Given the description of an element on the screen output the (x, y) to click on. 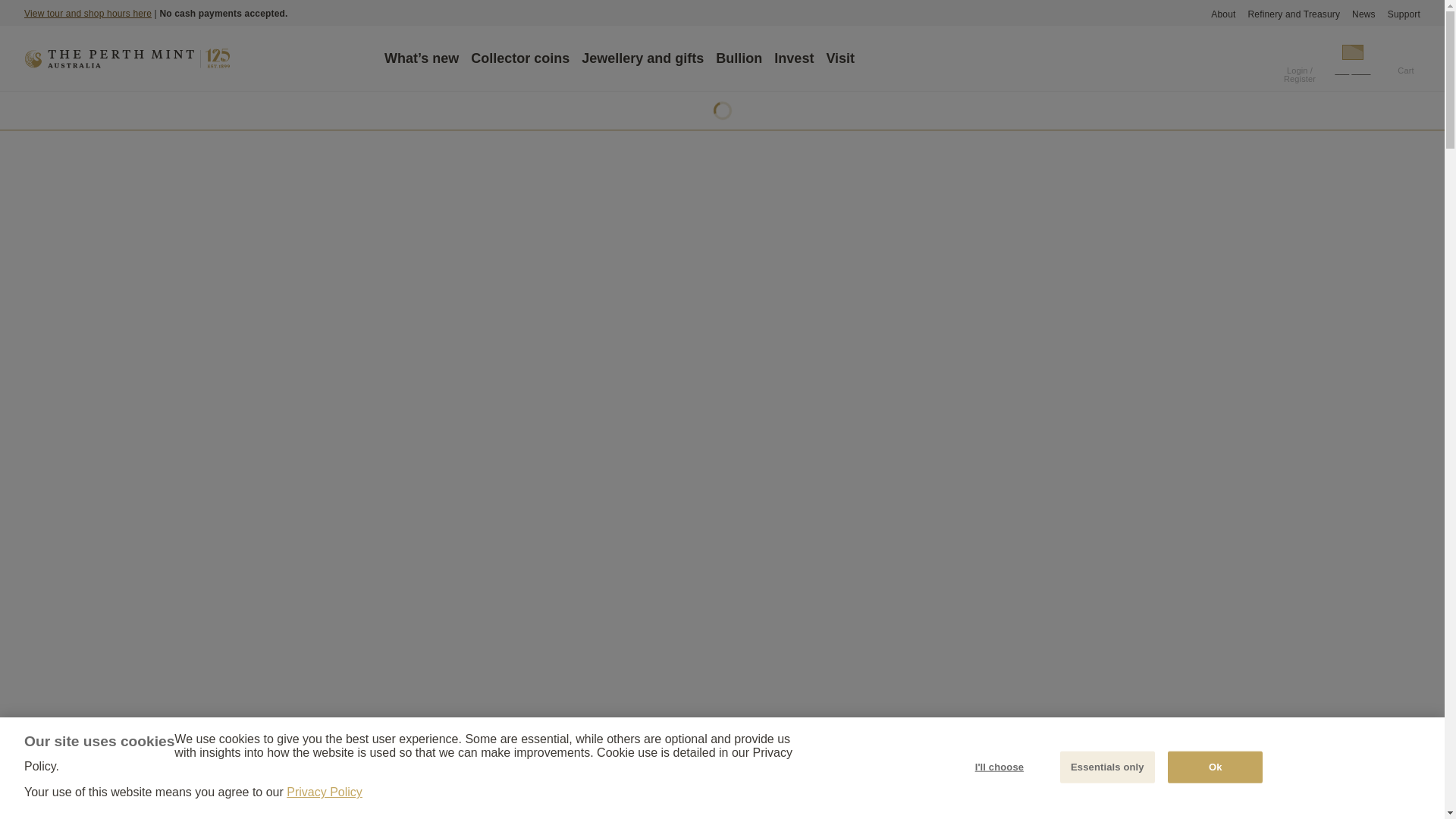
Refinery and Treasury (1293, 14)
News (1363, 14)
View tour and shop hours here (87, 13)
Collector coins (519, 57)
Support (1404, 14)
About (1222, 14)
